Given the description of an element on the screen output the (x, y) to click on. 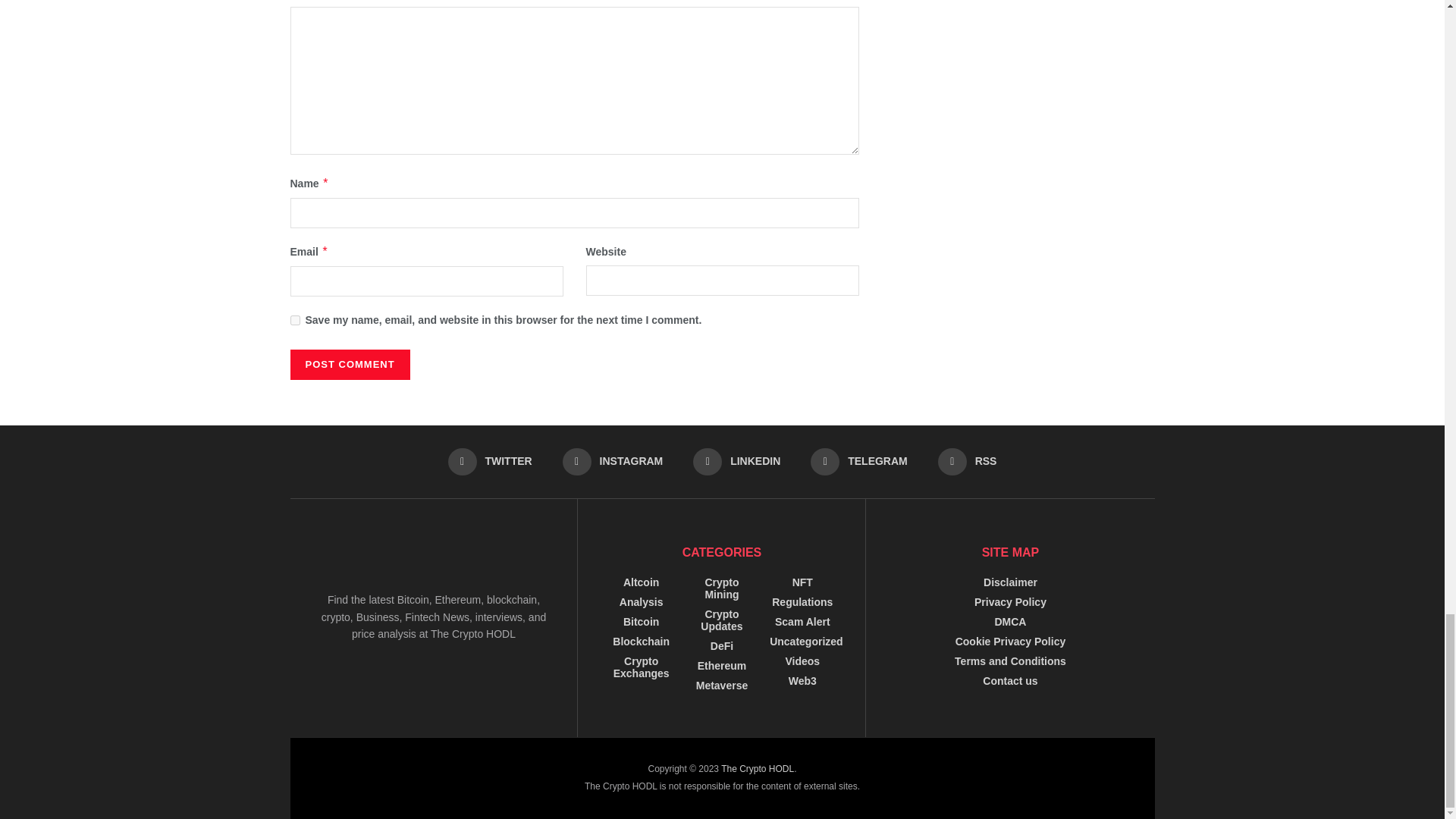
Post Comment (349, 364)
The Crypto HODL (756, 768)
yes (294, 320)
